Given the description of an element on the screen output the (x, y) to click on. 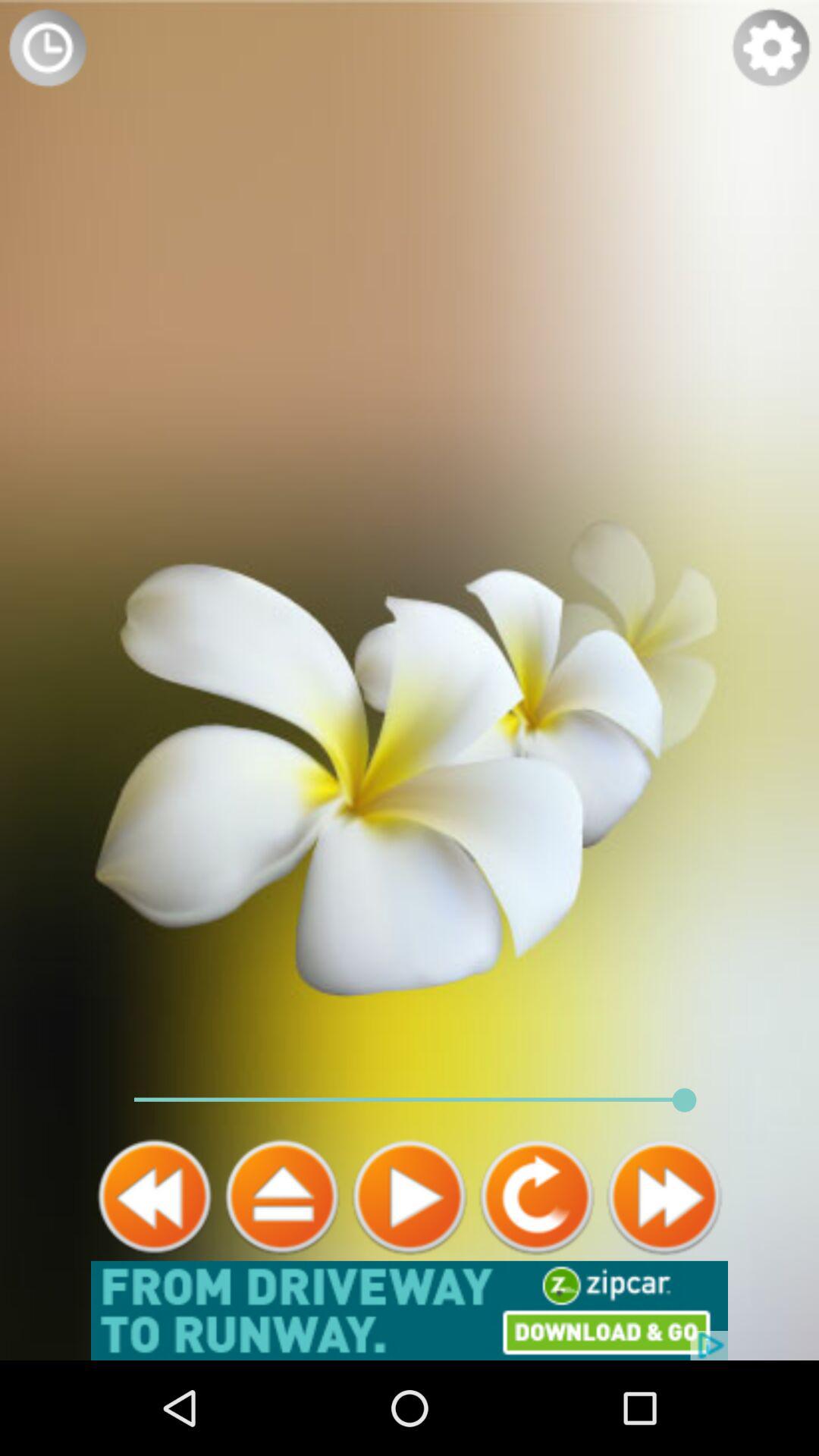
go to previous (536, 1196)
